Given the description of an element on the screen output the (x, y) to click on. 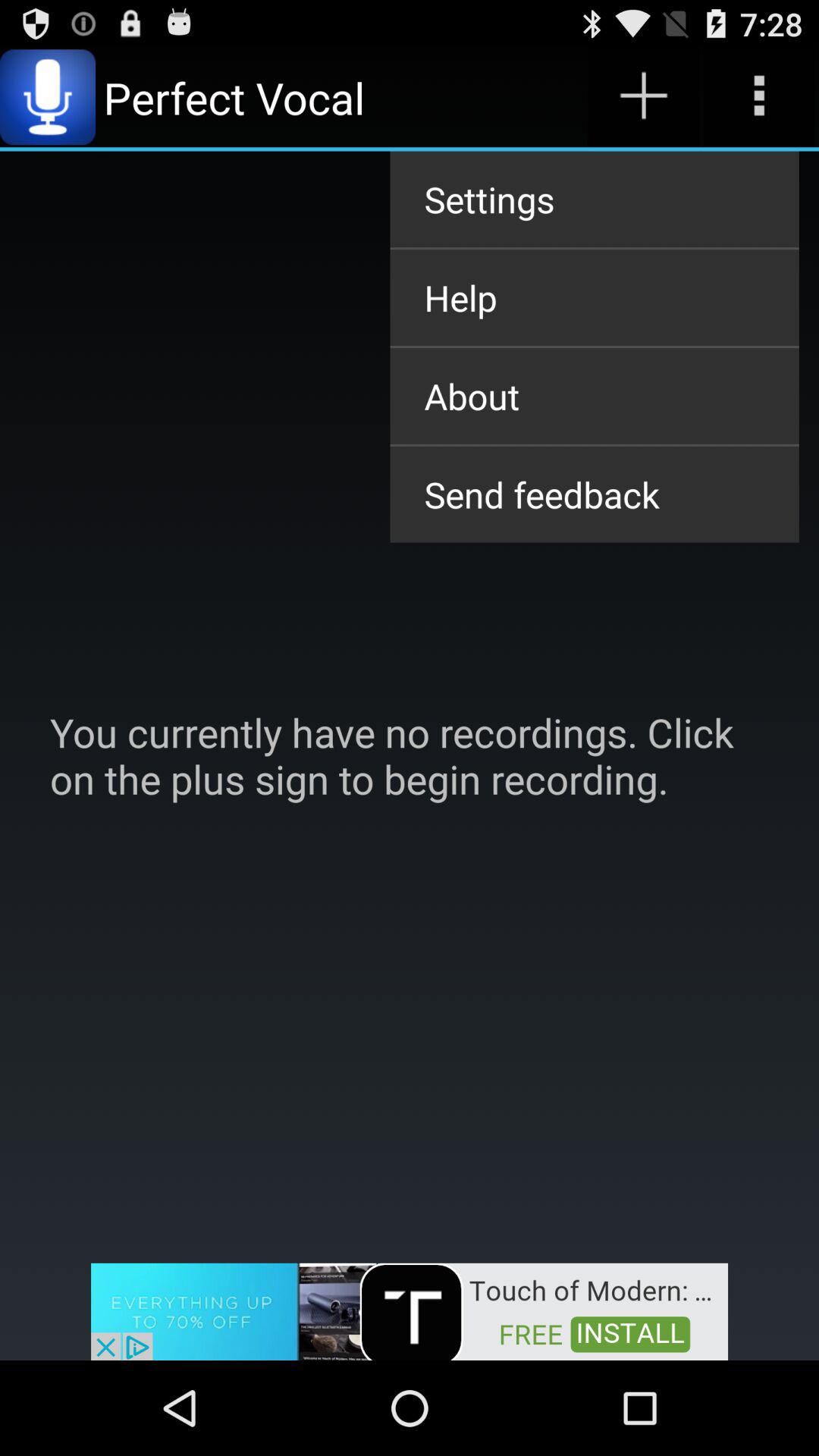
menu pega (643, 97)
